Given the description of an element on the screen output the (x, y) to click on. 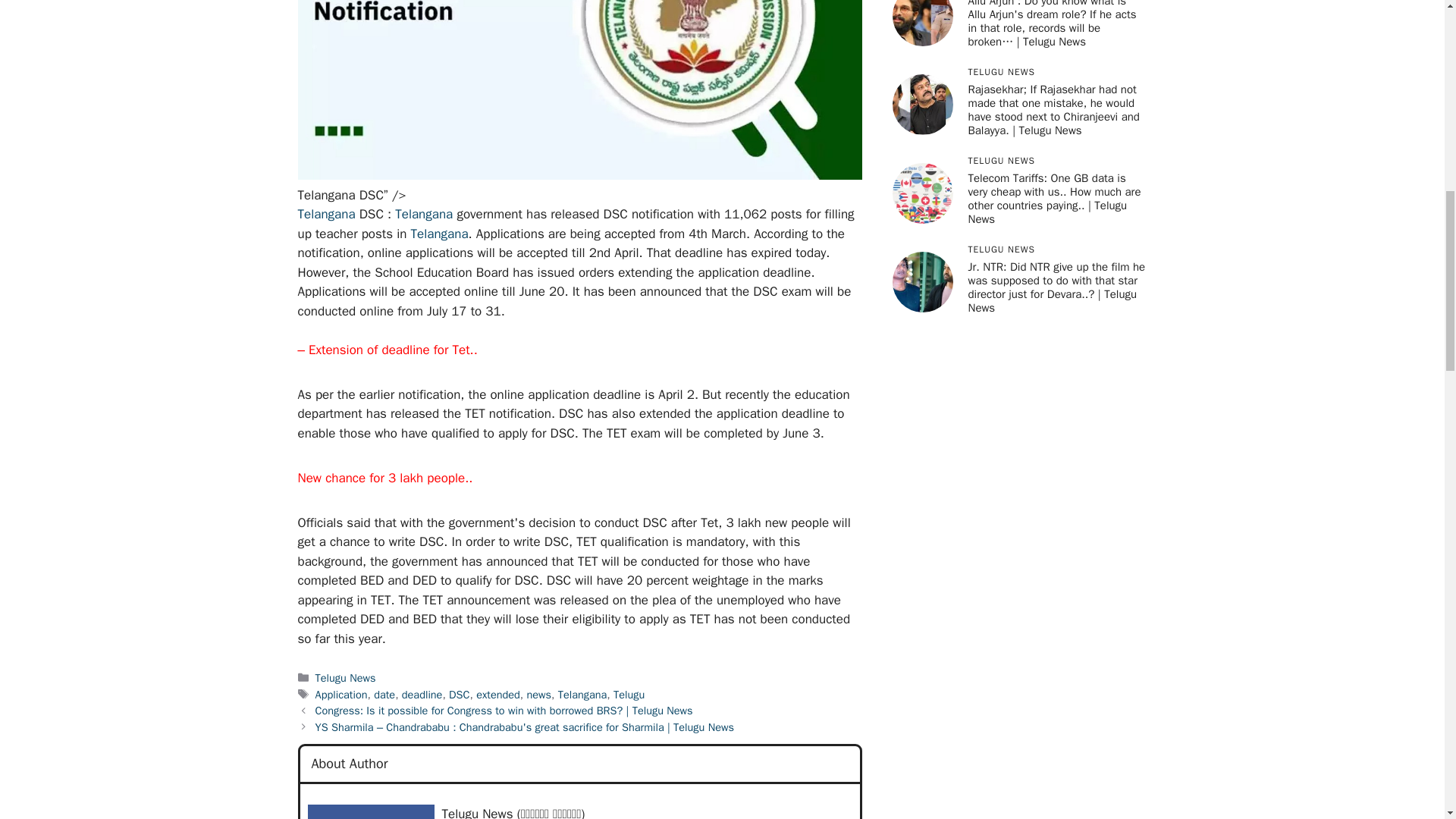
extended (497, 694)
Telugu (628, 694)
Telangana (439, 233)
DSC (458, 694)
Telangana (582, 694)
Telugu News (345, 677)
deadline (421, 694)
Scroll back to top (1406, 720)
Telangana (326, 213)
Application (341, 694)
unnamed (370, 811)
Telangana (423, 213)
news (538, 694)
date (384, 694)
